Given the description of an element on the screen output the (x, y) to click on. 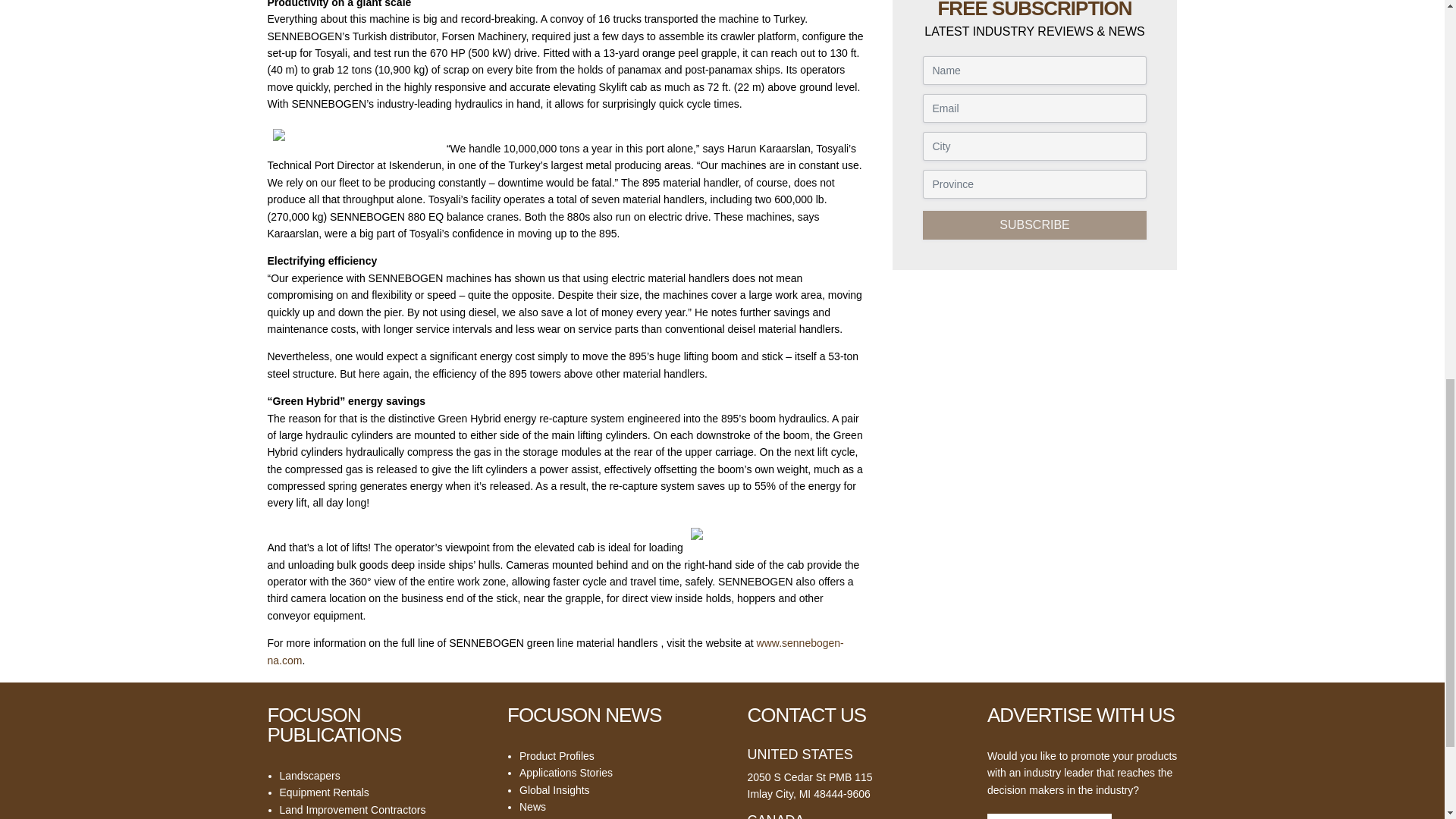
Subscribe (1034, 224)
www.sennebogen-na.com (554, 651)
GET IN TOUCH (1049, 816)
Subscribe (1034, 224)
